Given the description of an element on the screen output the (x, y) to click on. 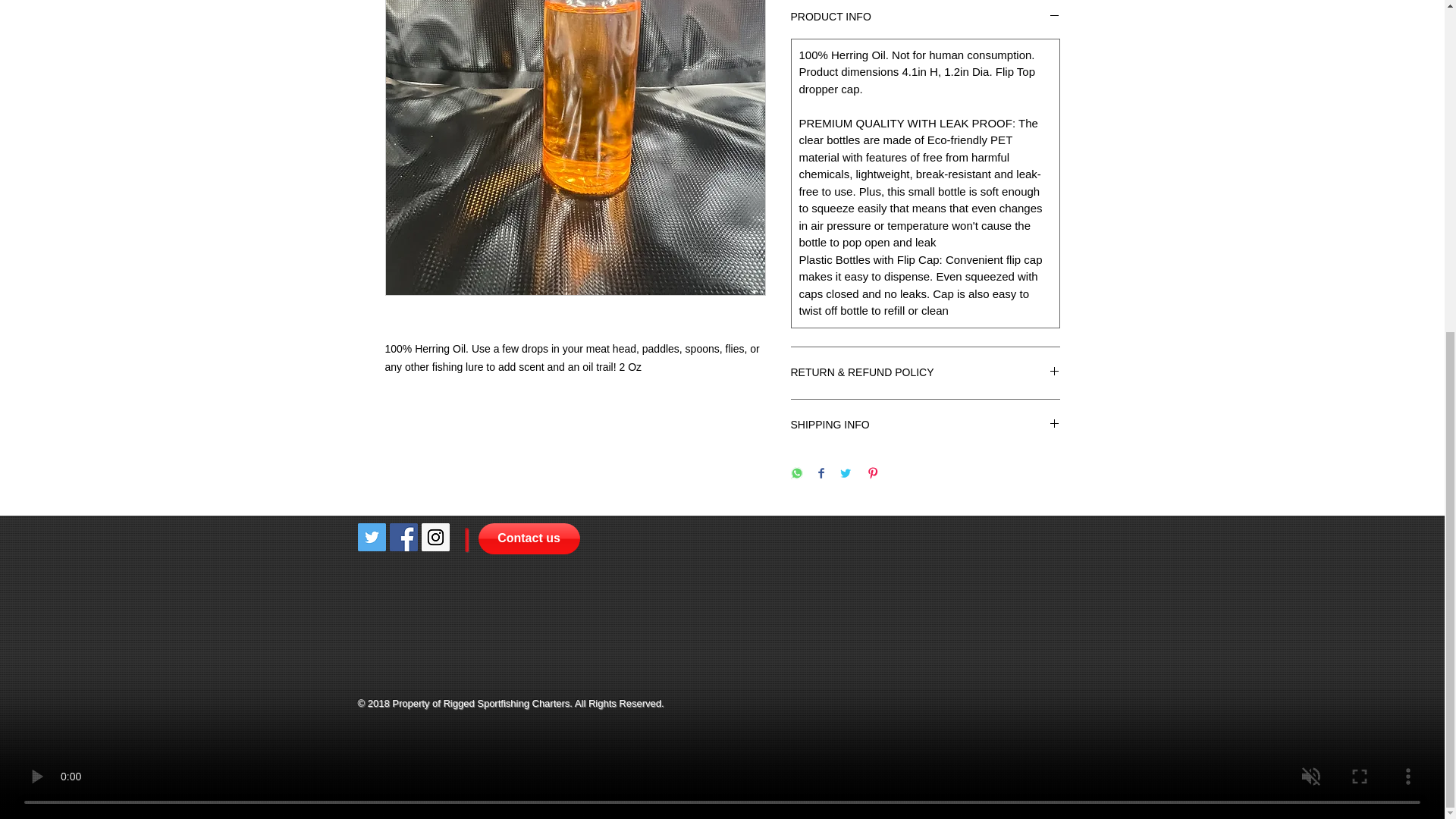
PRODUCT INFO (924, 17)
SHIPPING INFO (924, 425)
Facebook Like (481, 660)
Contact us (528, 538)
